Given the description of an element on the screen output the (x, y) to click on. 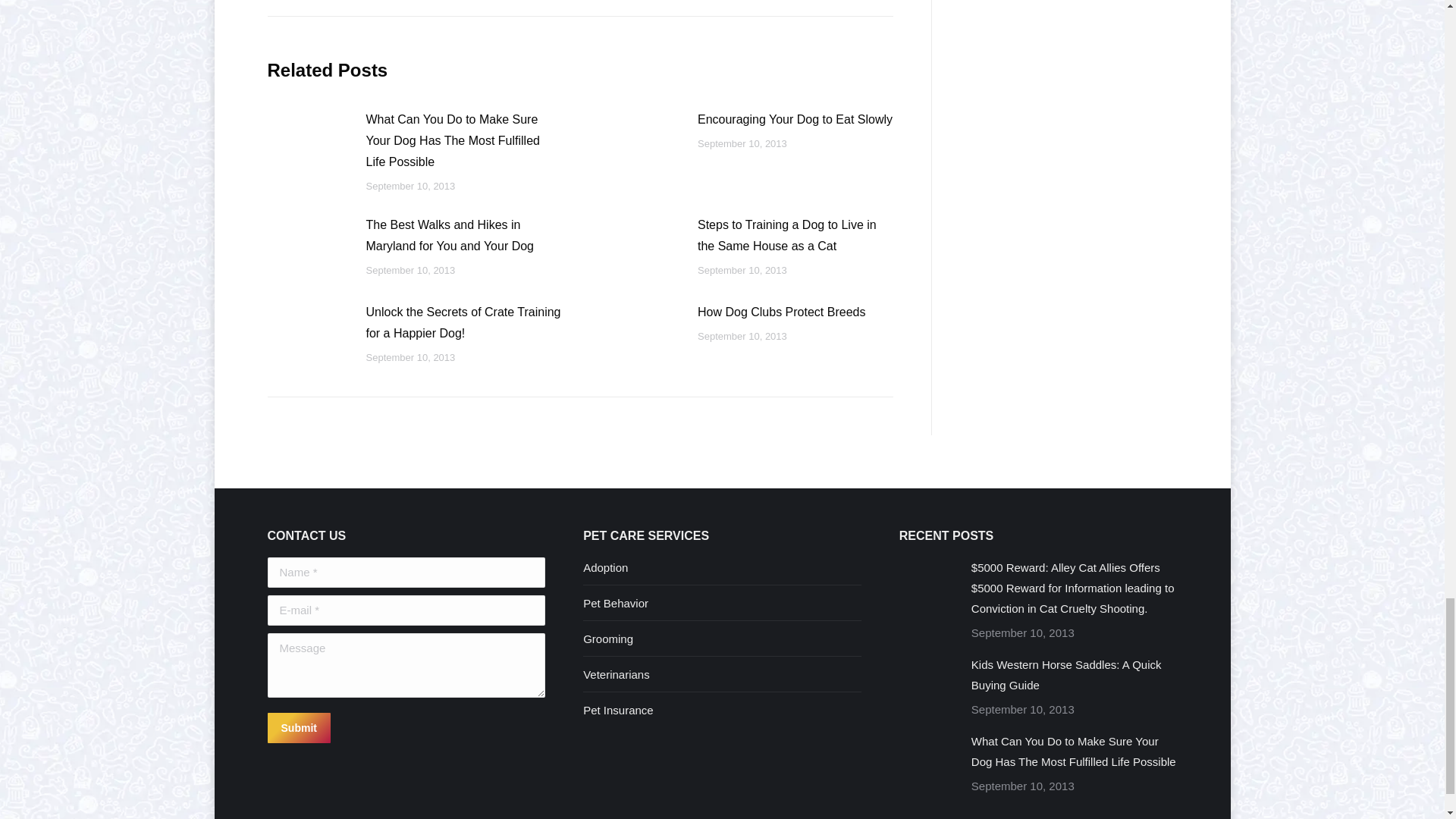
submit (370, 729)
